Given the description of an element on the screen output the (x, y) to click on. 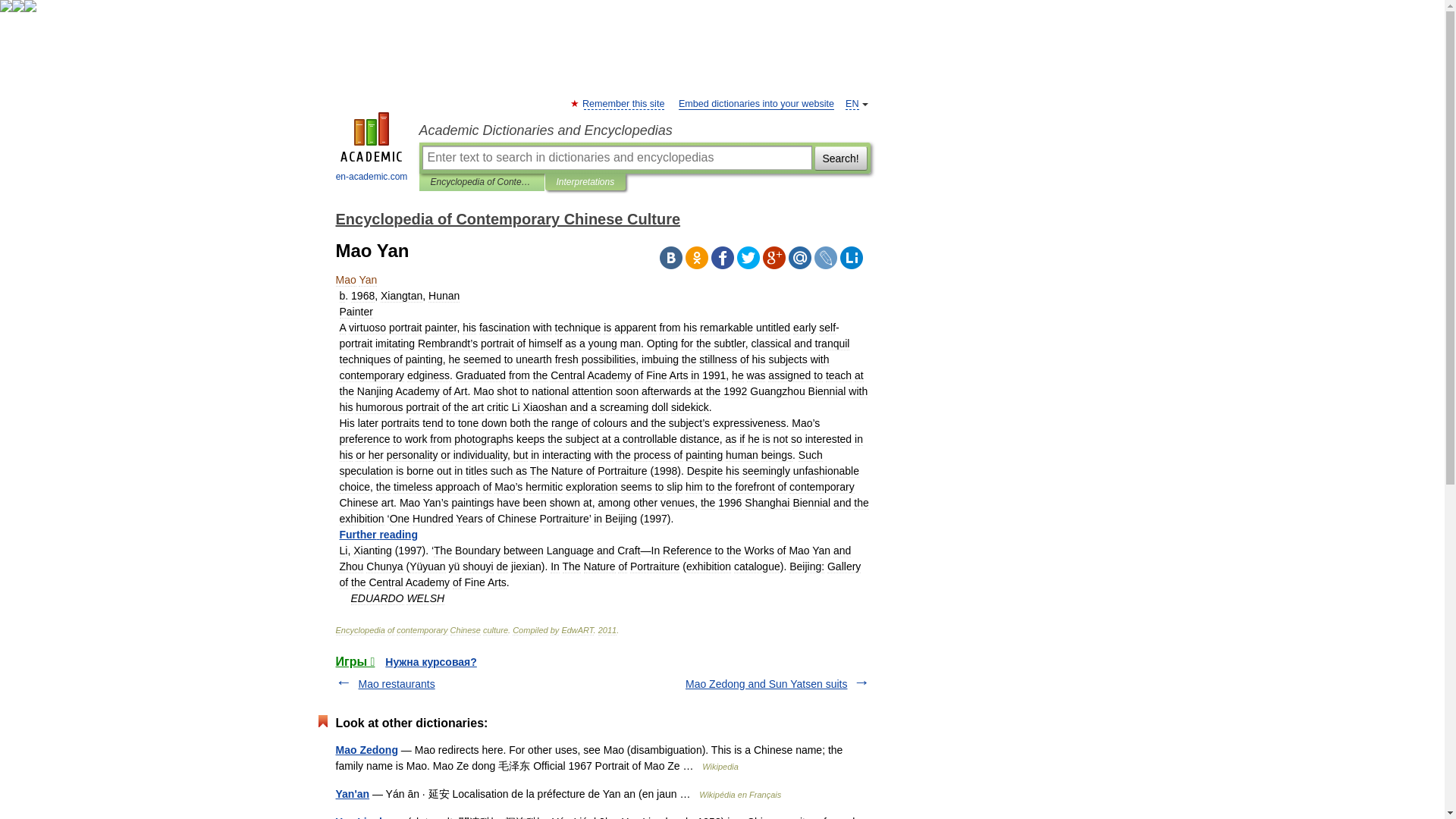
Interpretations (585, 181)
Encyclopedia of Contemporary Chinese Culture (506, 218)
Mao restaurants (395, 684)
Further reading (378, 534)
EN (852, 103)
Search! (840, 157)
Remember this site (623, 103)
Encyclopedia of Contemporary Chinese Culture (481, 181)
Mao Zedong and Sun Yatsen suits (766, 684)
Enter text to search in dictionaries and encyclopedias (616, 157)
Yan'an (351, 793)
Yan Lianke (362, 817)
Mao restaurants (395, 684)
Academic Dictionaries and Encyclopedias (644, 130)
Mao Zedong and Sun Yatsen suits (766, 684)
